Given the description of an element on the screen output the (x, y) to click on. 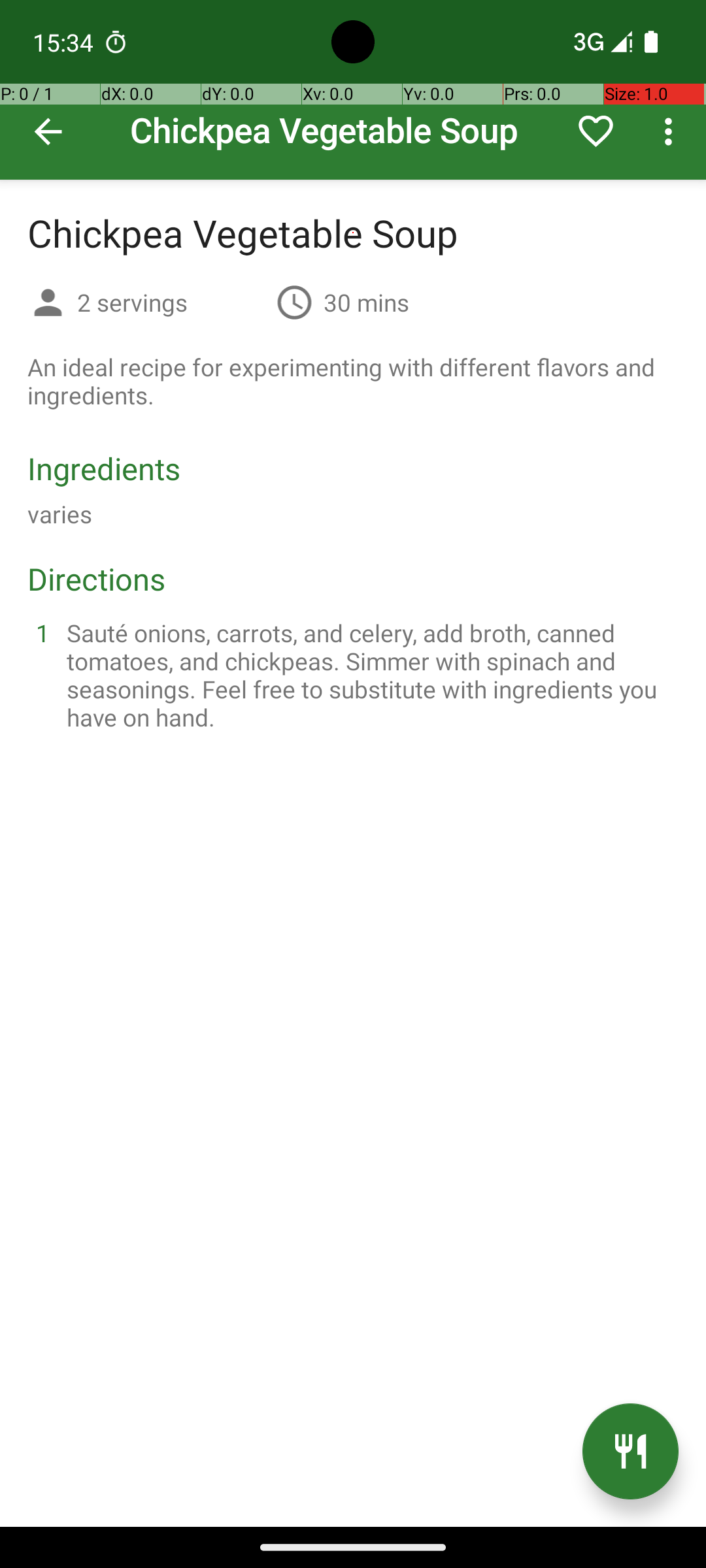
Sauté onions, carrots, and celery, add broth, canned tomatoes, and chickpeas. Simmer with spinach and seasonings. Feel free to substitute with ingredients you have on hand. Element type: android.widget.TextView (368, 674)
